Given the description of an element on the screen output the (x, y) to click on. 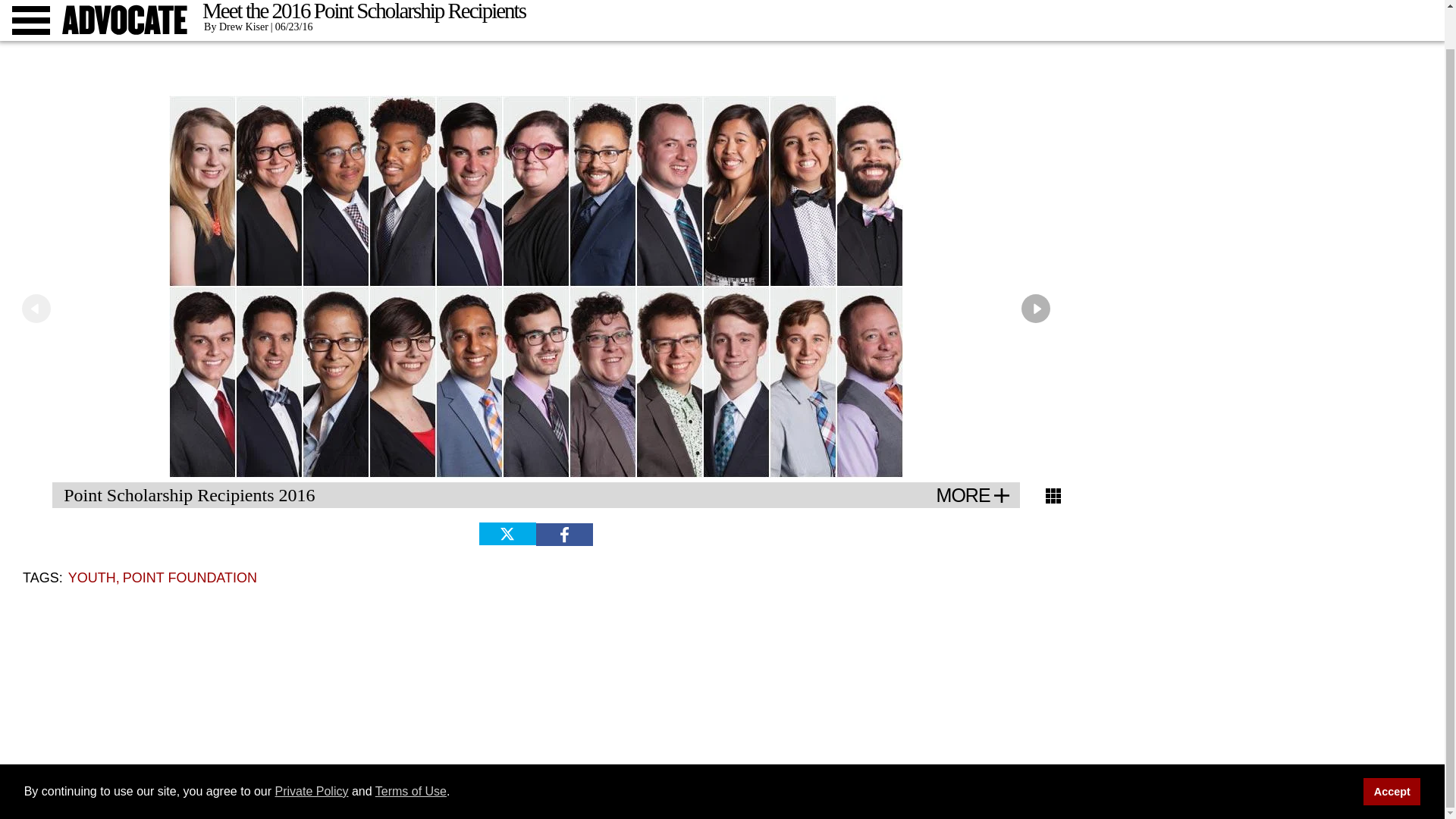
Private Policy (312, 749)
3rd party ad content (721, 38)
Terms of Use (410, 749)
Accept (1391, 750)
